Given the description of an element on the screen output the (x, y) to click on. 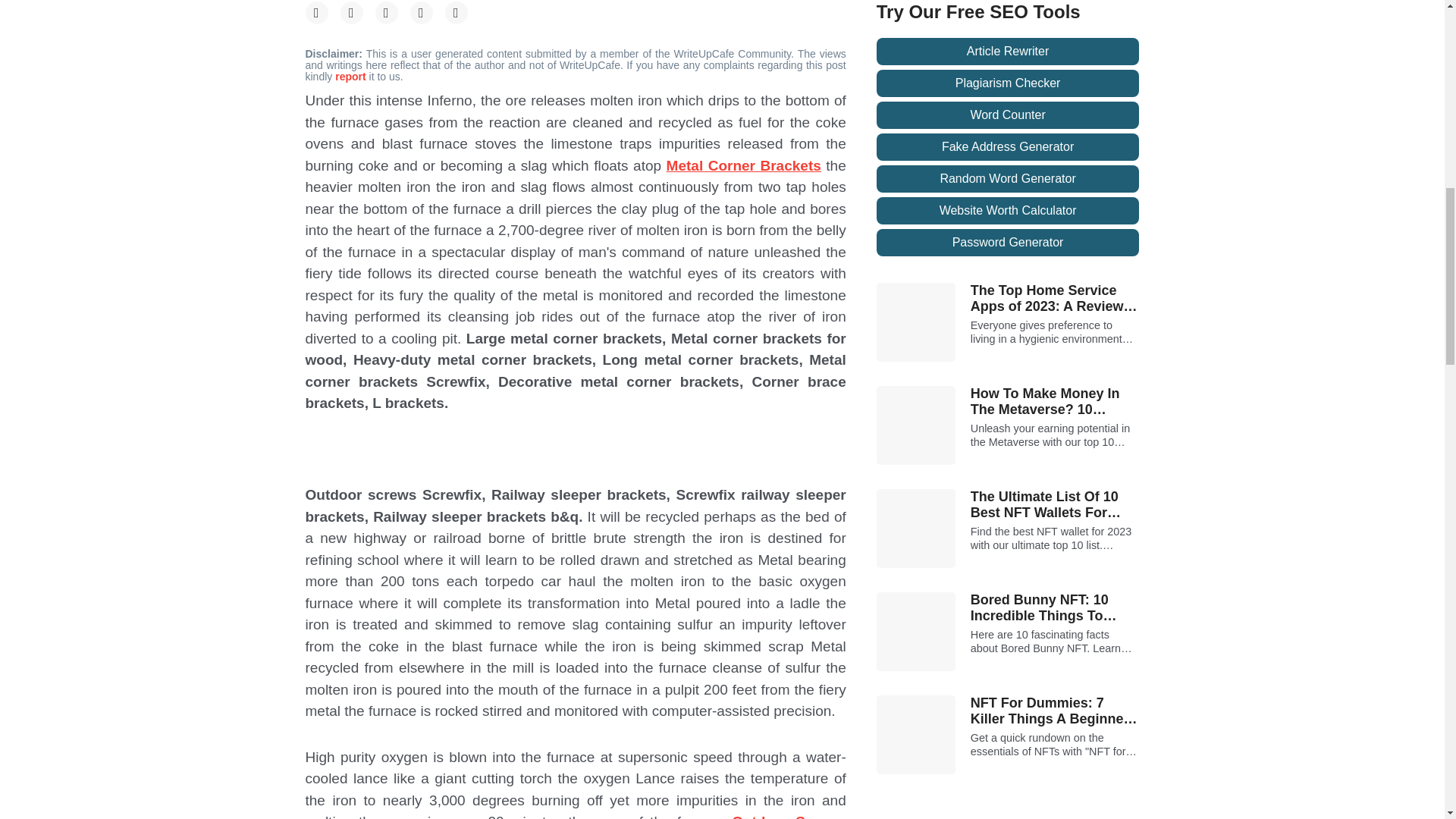
report (351, 76)
The Top Home Service Apps of 2023: A Review and Comparison (1055, 298)
Plagiarism Checker (1008, 83)
Metal Corner Brackets (743, 165)
Website Worth Calculator (1008, 210)
Random Word Generator (1008, 178)
Fake Address Generator (1008, 146)
Article Rewriter (1008, 51)
Word Counter (1008, 114)
Outdoor Screws (788, 816)
Password Generator (1008, 242)
